Given the description of an element on the screen output the (x, y) to click on. 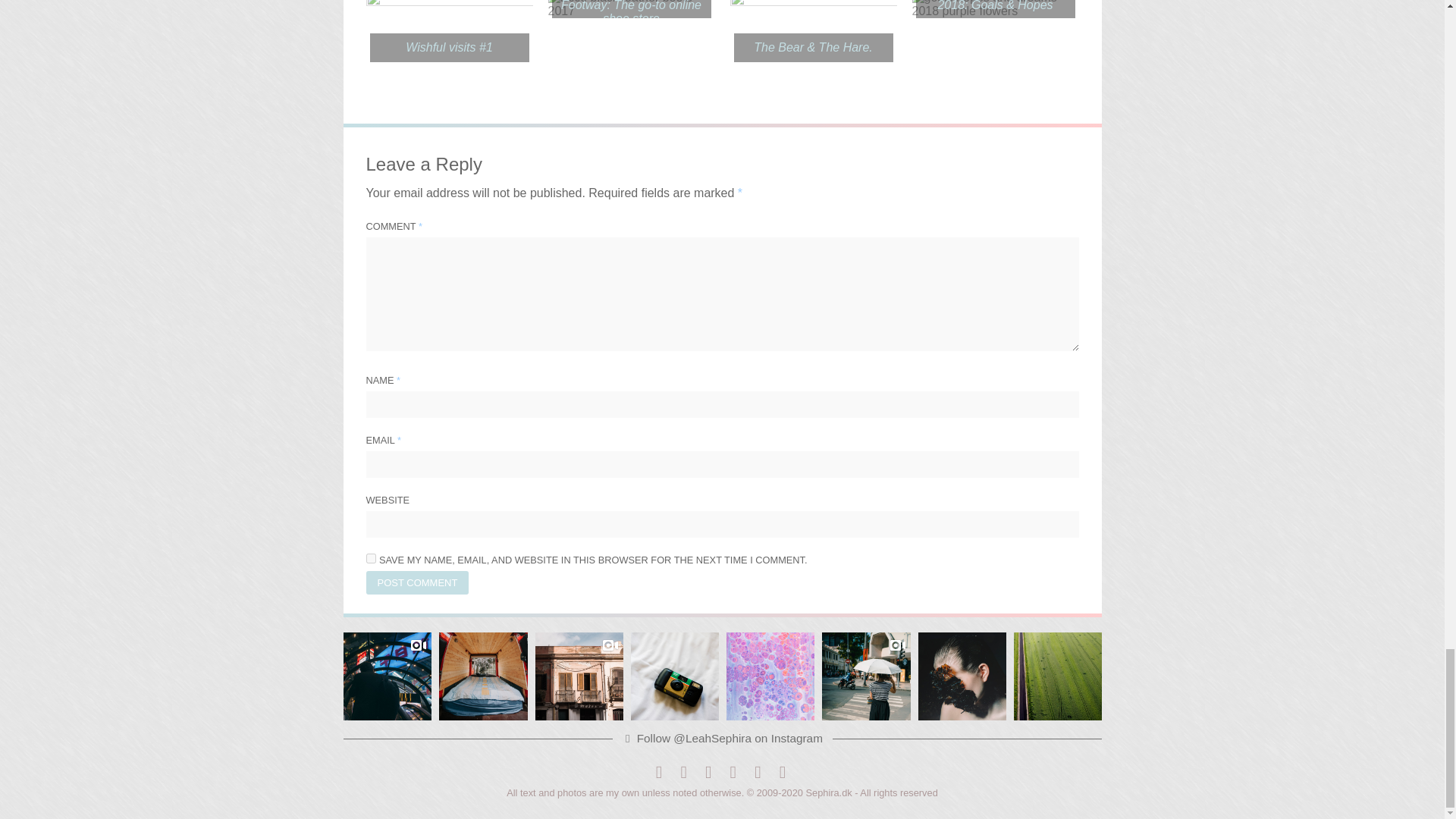
Post Comment (416, 582)
yes (370, 558)
Footway: The go-to online shoe store (631, 16)
Bloglovin (732, 772)
E-Mail (757, 772)
Instagram (707, 772)
Facebook (658, 772)
Twitter (683, 772)
